Given the description of an element on the screen output the (x, y) to click on. 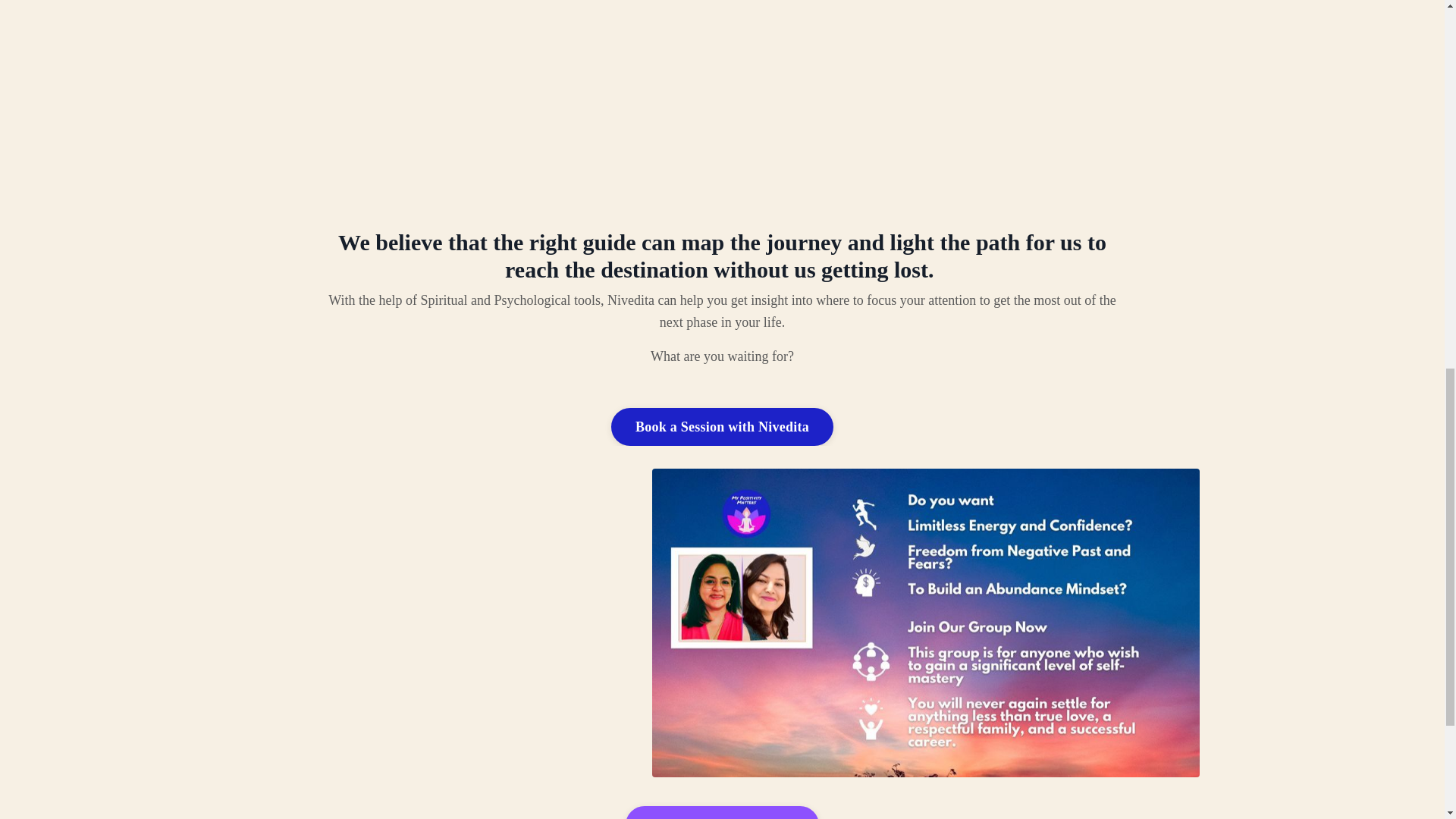
Book a Session with Nivedita (721, 426)
Schedule a Consultation (722, 812)
